Given the description of an element on the screen output the (x, y) to click on. 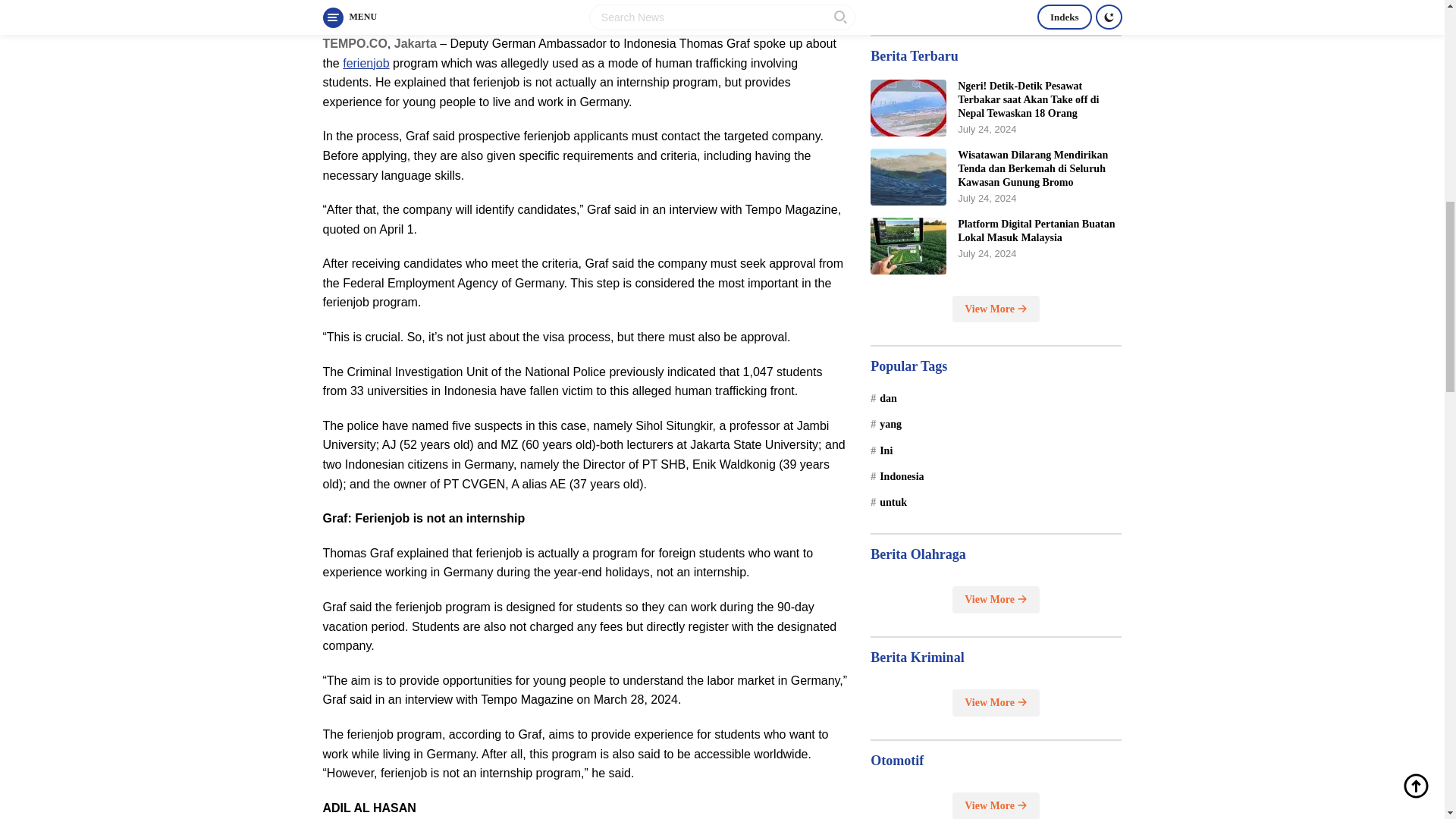
ferienjob (365, 62)
